Given the description of an element on the screen output the (x, y) to click on. 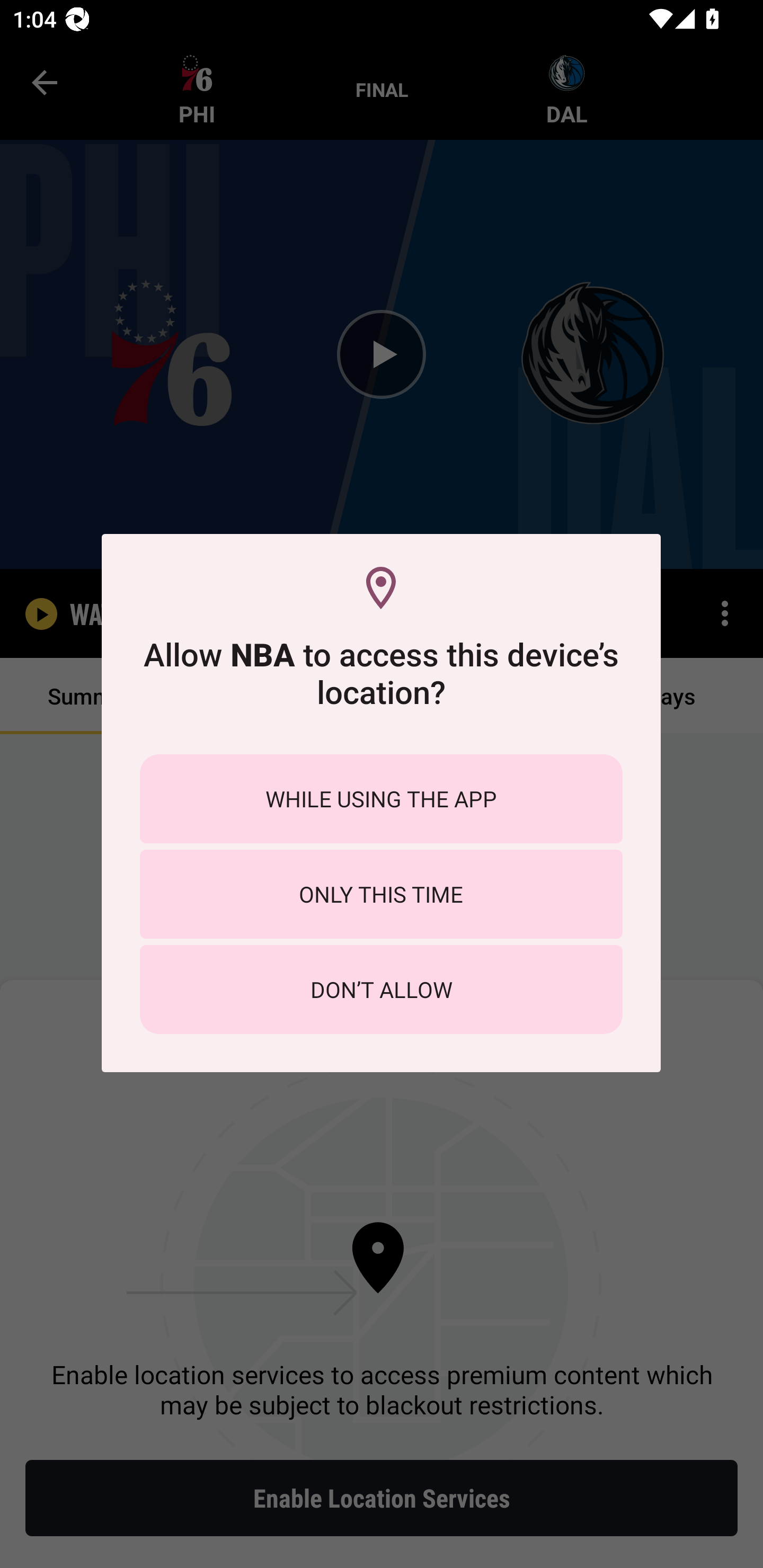
WHILE USING THE APP (380, 798)
ONLY THIS TIME (380, 894)
DON’T ALLOW (380, 989)
